Given the description of an element on the screen output the (x, y) to click on. 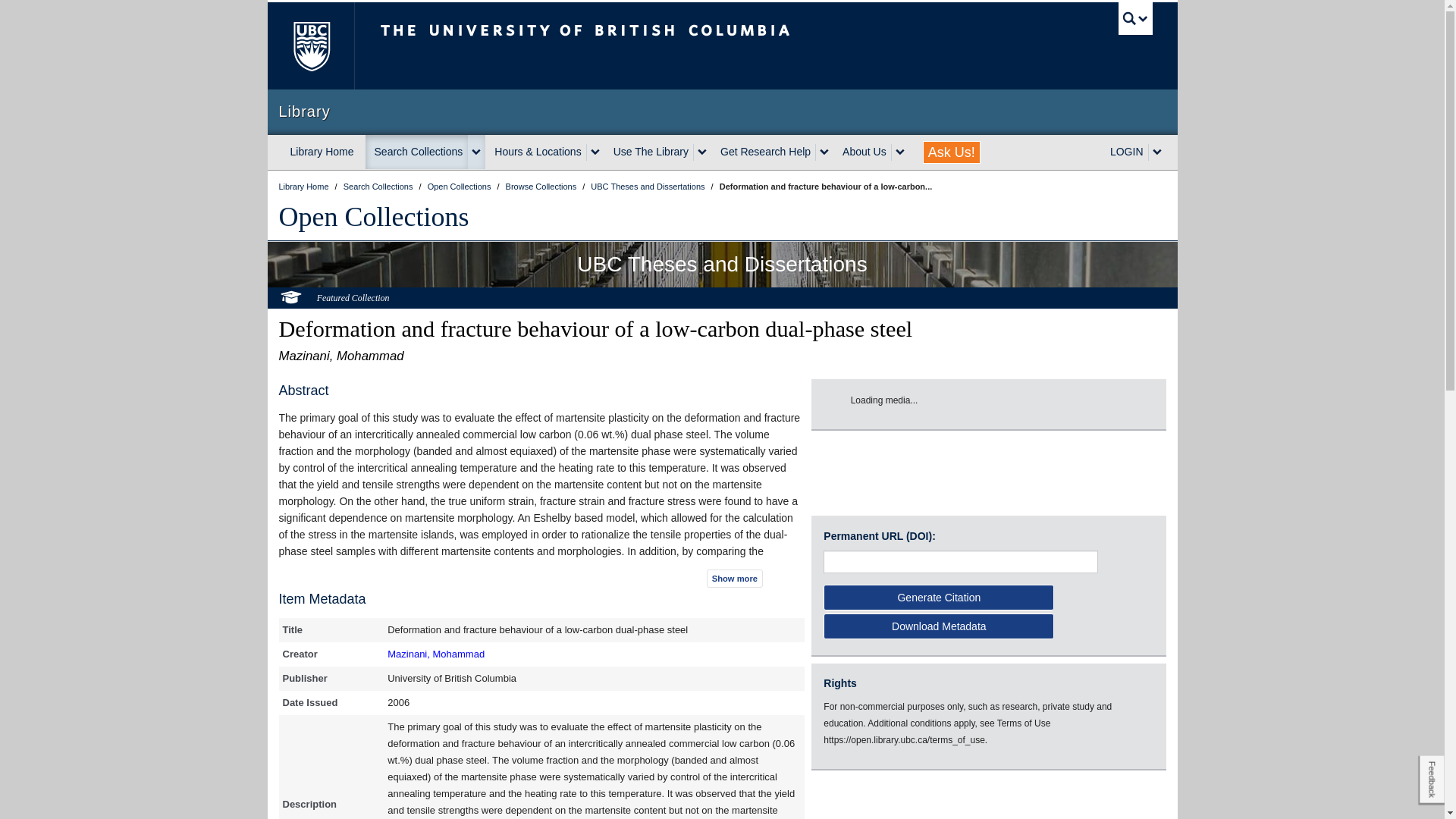
Search Collections (378, 185)
Open Collections (373, 216)
Library (722, 111)
The University of British Columbia (635, 45)
Browse Collections (542, 185)
Search Collections (416, 151)
UBC Search (1135, 18)
The University of British Columbia (309, 45)
Library Home (322, 151)
Open Collections (460, 185)
UBC Library (305, 185)
